Given the description of an element on the screen output the (x, y) to click on. 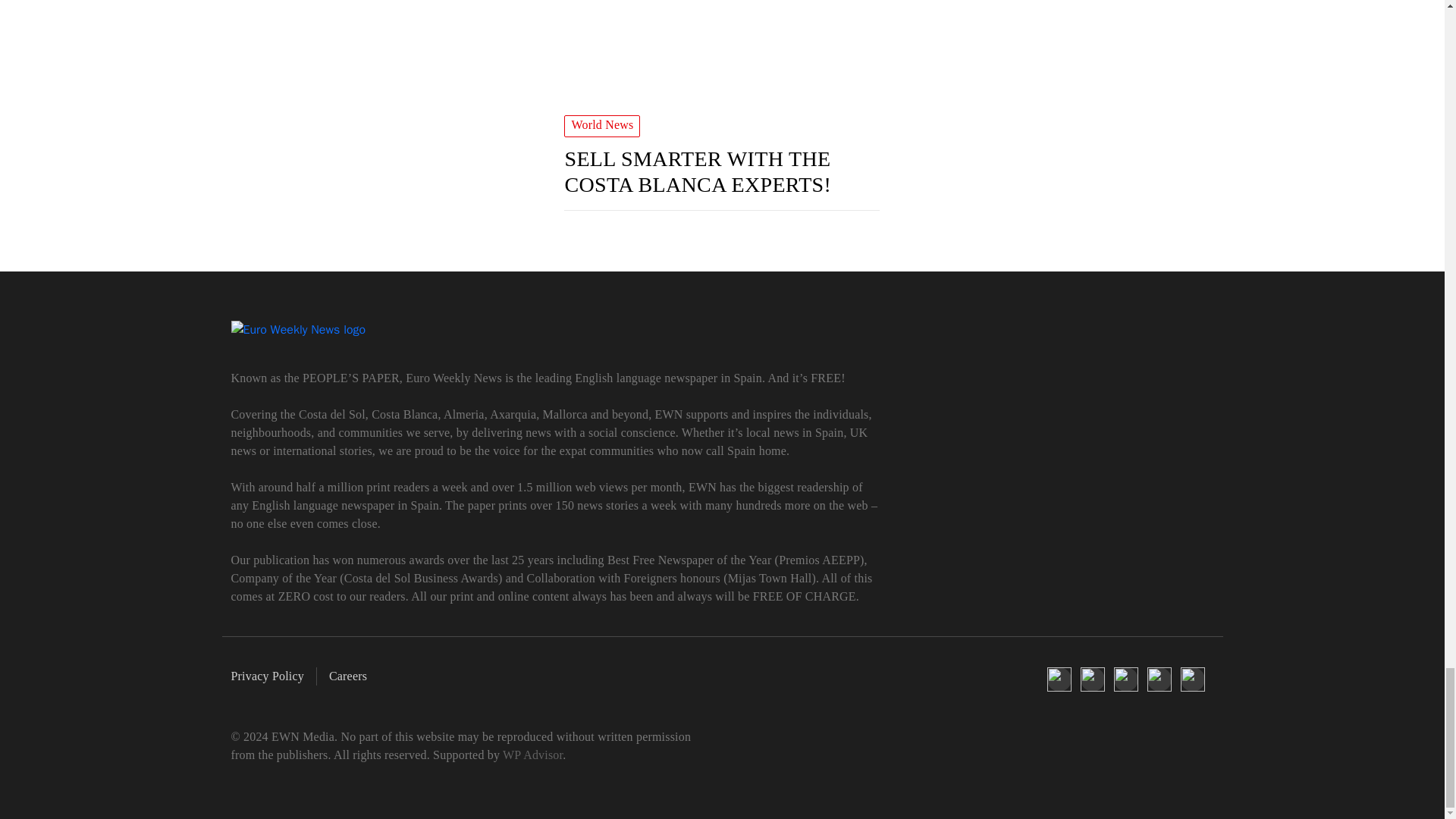
WP Advisor - WordPress done right! (532, 754)
